Given the description of an element on the screen output the (x, y) to click on. 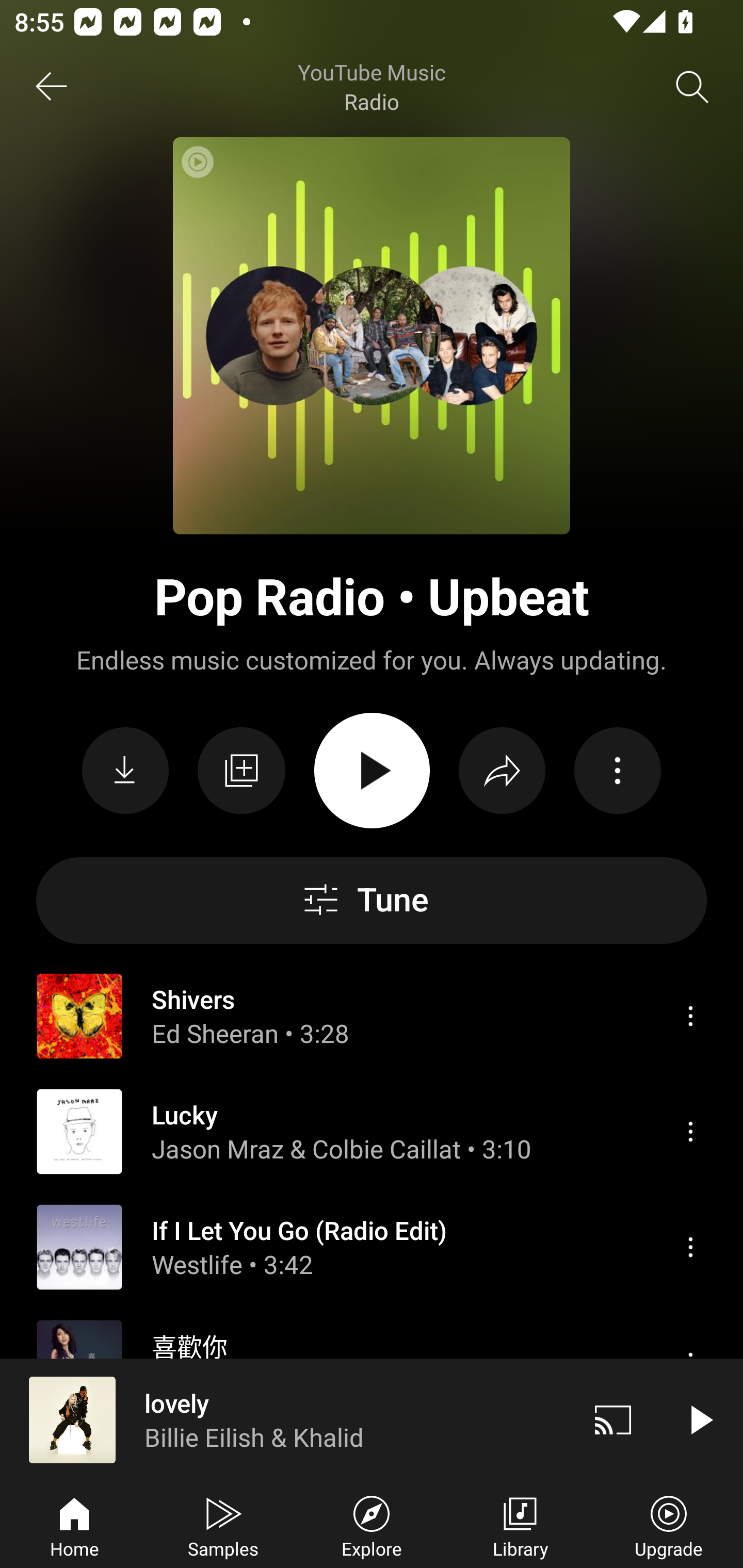
Back (50, 86)
Search (692, 86)
PLAY ALL (371, 770)
Download (125, 770)
Share (501, 770)
Action menu (617, 770)
Save to library (241, 770)
Menu (690, 1016)
Menu (690, 1132)
Menu (690, 1246)
lovely Billie Eilish & Khalid (284, 1419)
Cast. Disconnected (612, 1419)
Play video (699, 1419)
Home (74, 1524)
Samples (222, 1524)
Explore (371, 1524)
Library (519, 1524)
Upgrade (668, 1524)
